Given the description of an element on the screen output the (x, y) to click on. 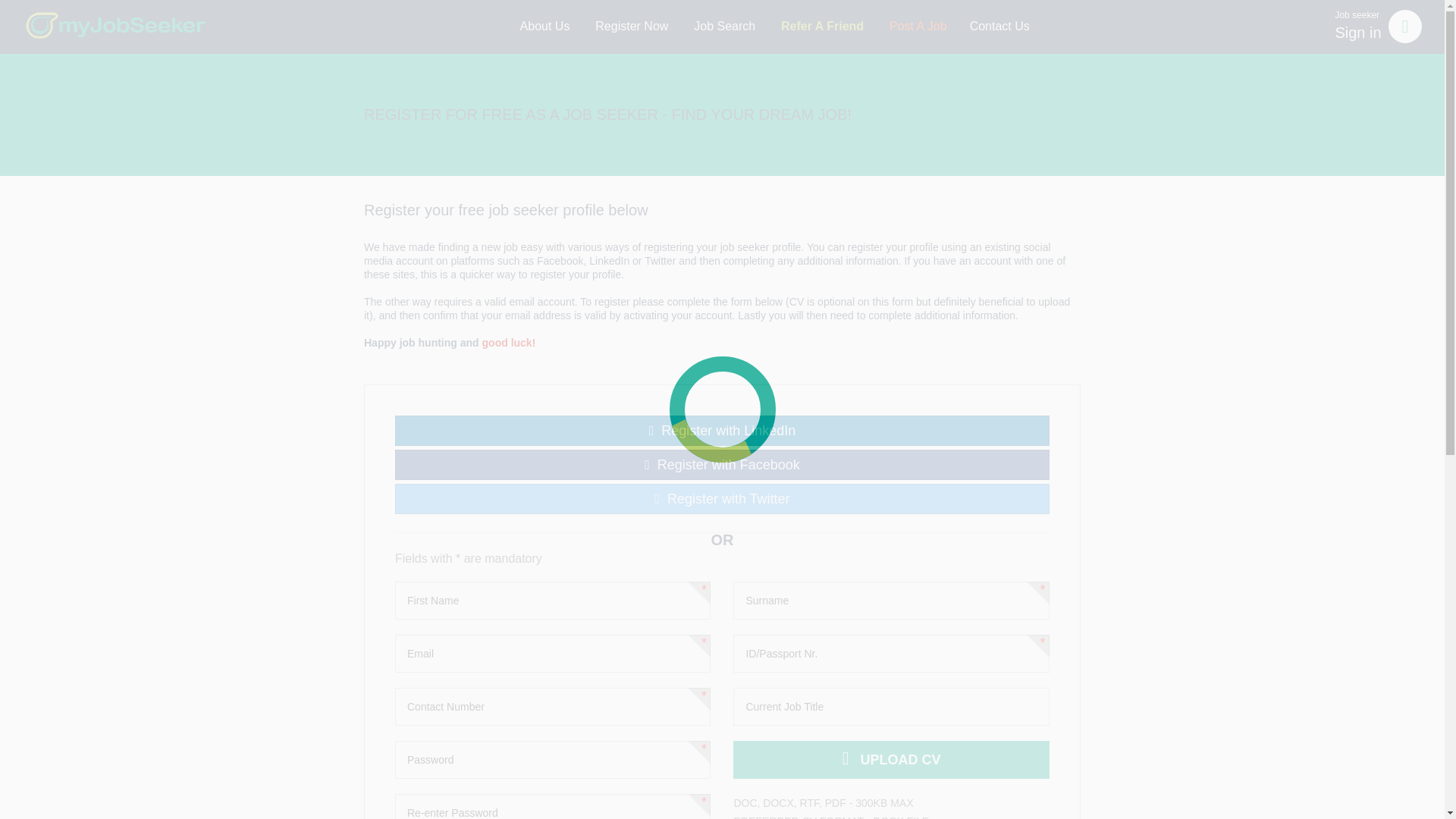
Register Now (1377, 26)
Post A Job (631, 26)
  Register with LinkedIn (917, 26)
Refer A Friend (721, 430)
  Register with Facebook (822, 26)
Job Search (721, 464)
About Us (724, 26)
Contact Us (544, 26)
  Register with Twitter (999, 26)
